Given the description of an element on the screen output the (x, y) to click on. 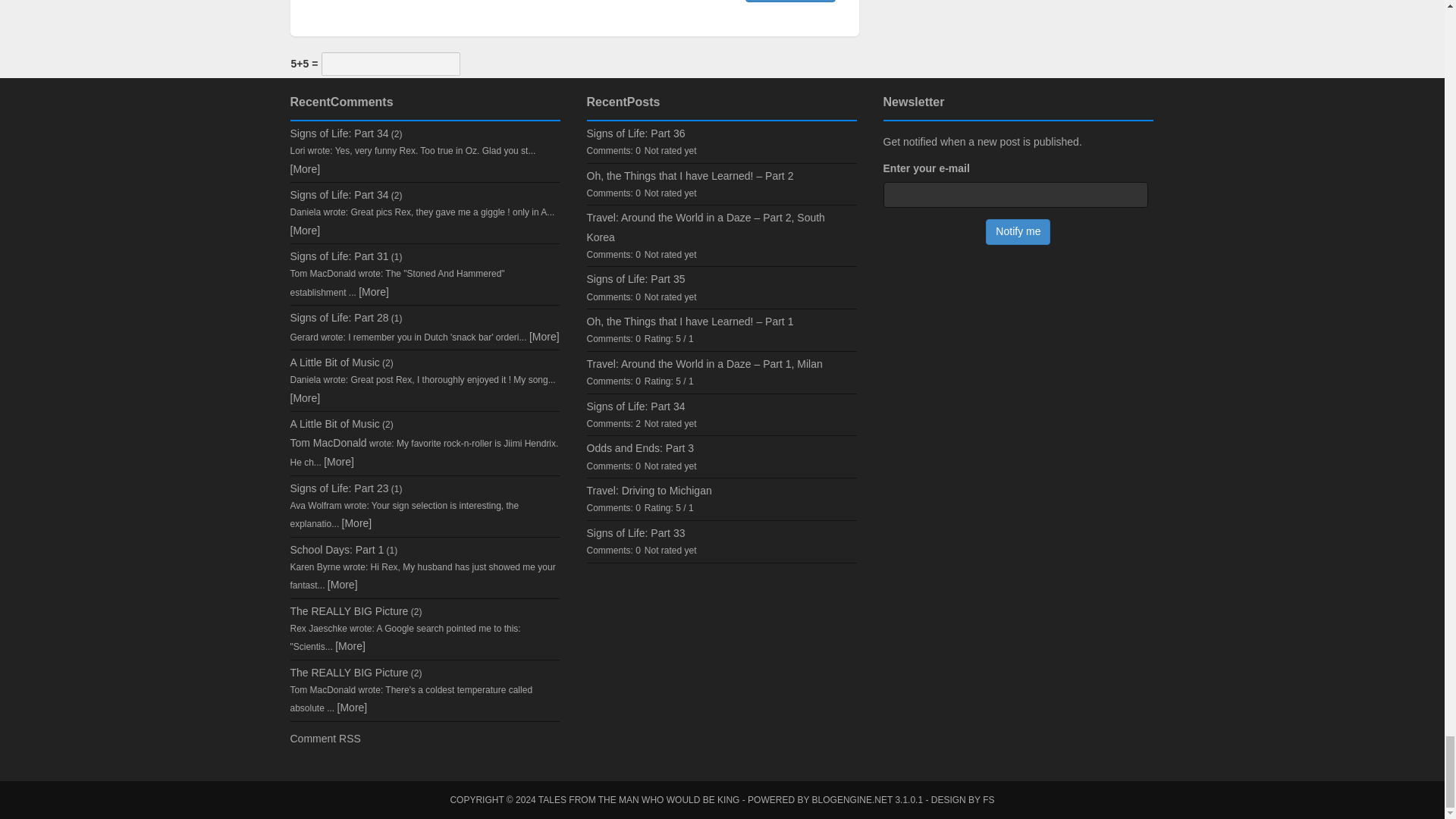
Notify me (1017, 231)
Save comment (790, 1)
